Given the description of an element on the screen output the (x, y) to click on. 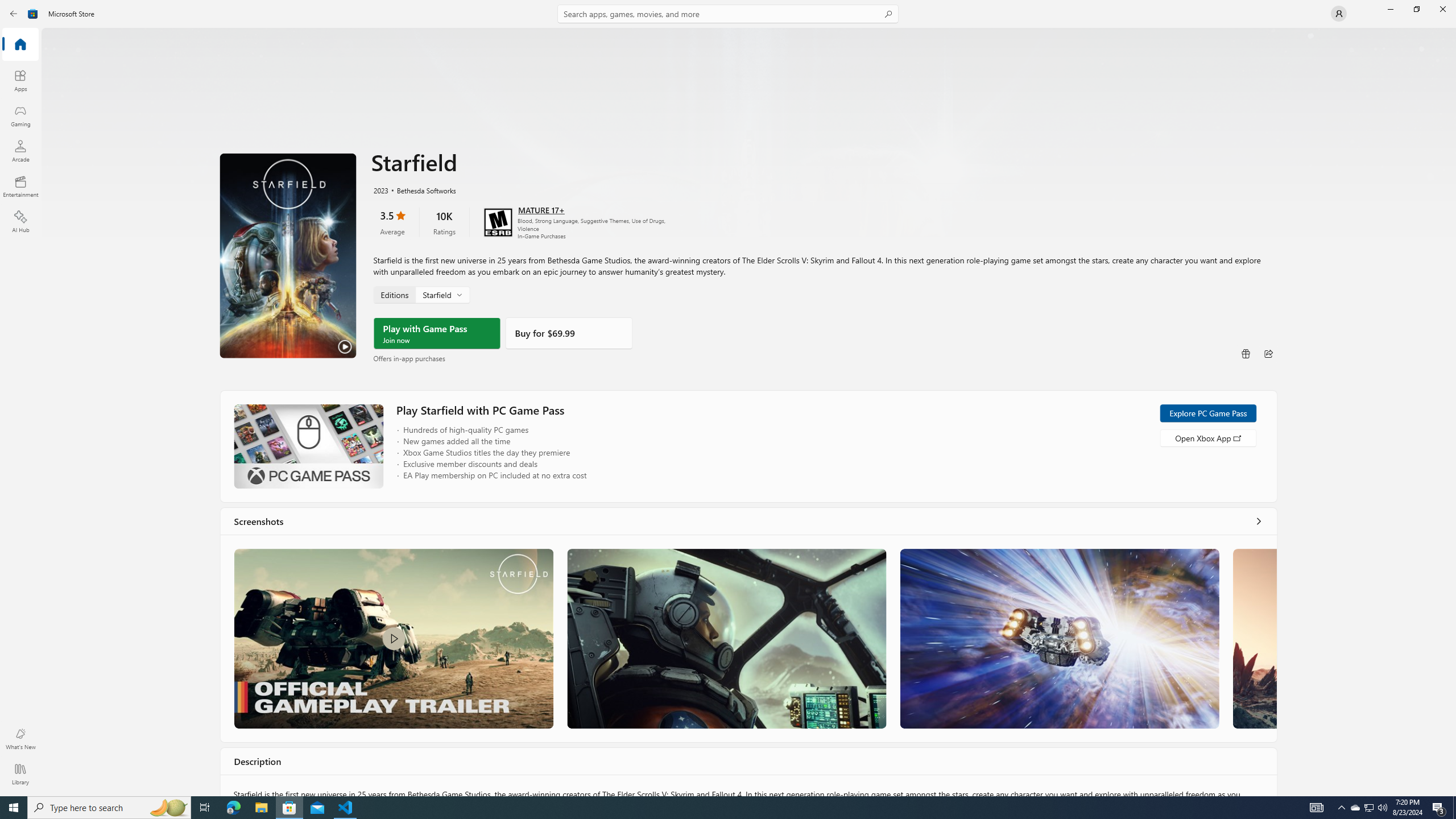
Library (20, 773)
Buy (568, 332)
Screenshot 2 (725, 638)
See all (1258, 520)
Open Xbox App (1207, 437)
AutomationID: NavigationControl (728, 398)
3.5 stars. Click to skip to ratings and reviews (392, 221)
2023 (379, 189)
Close Microsoft Store (1442, 9)
Minimize Microsoft Store (1390, 9)
Age rating: MATURE 17+. Click for more information. (540, 208)
Bethesda Softworks (420, 189)
Search (727, 13)
Play with Game Pass (436, 332)
Back (13, 13)
